Given the description of an element on the screen output the (x, y) to click on. 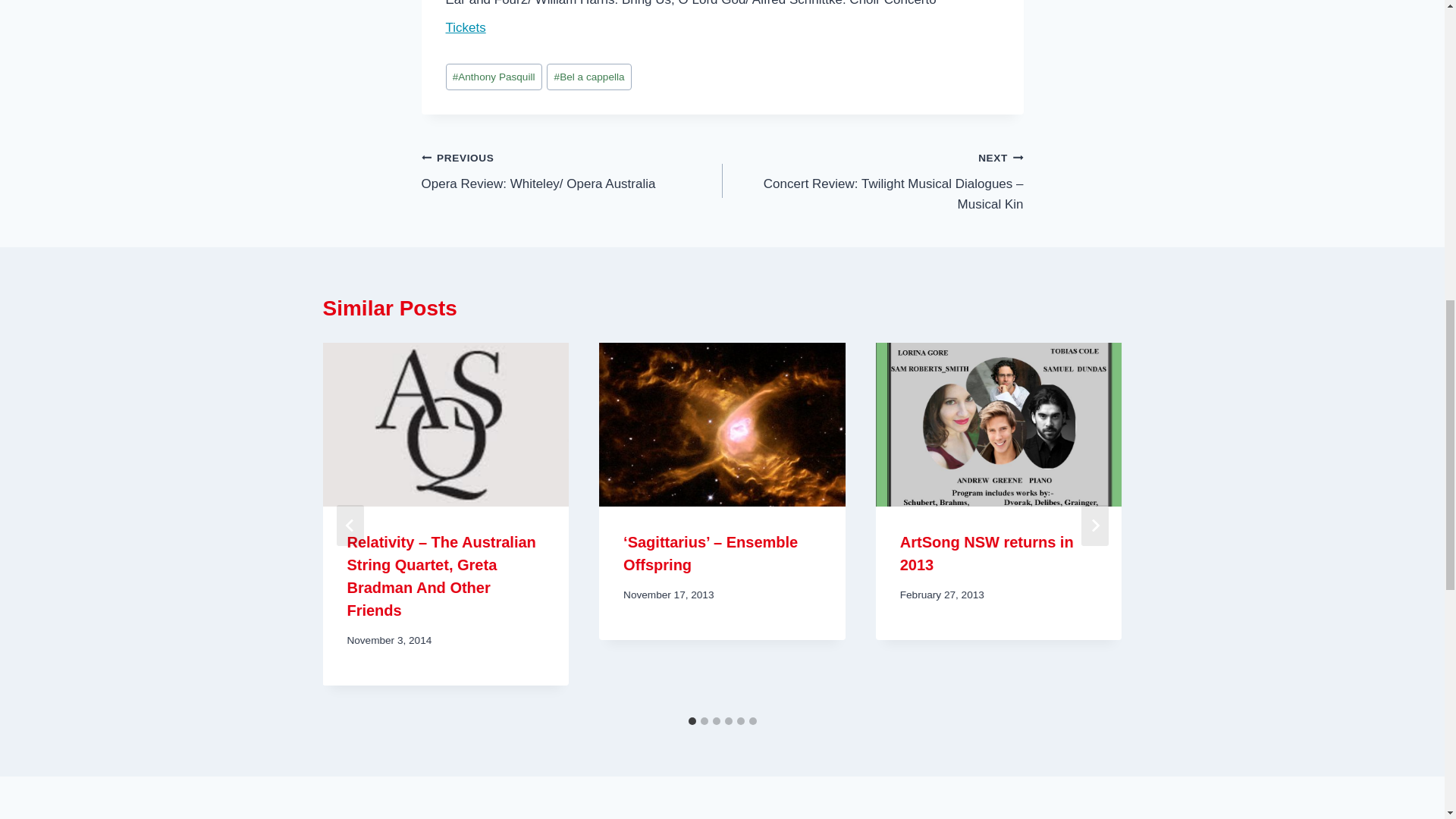
Tickets (465, 27)
Bel a cappella (588, 76)
Anthony Pasquill (493, 76)
